Given the description of an element on the screen output the (x, y) to click on. 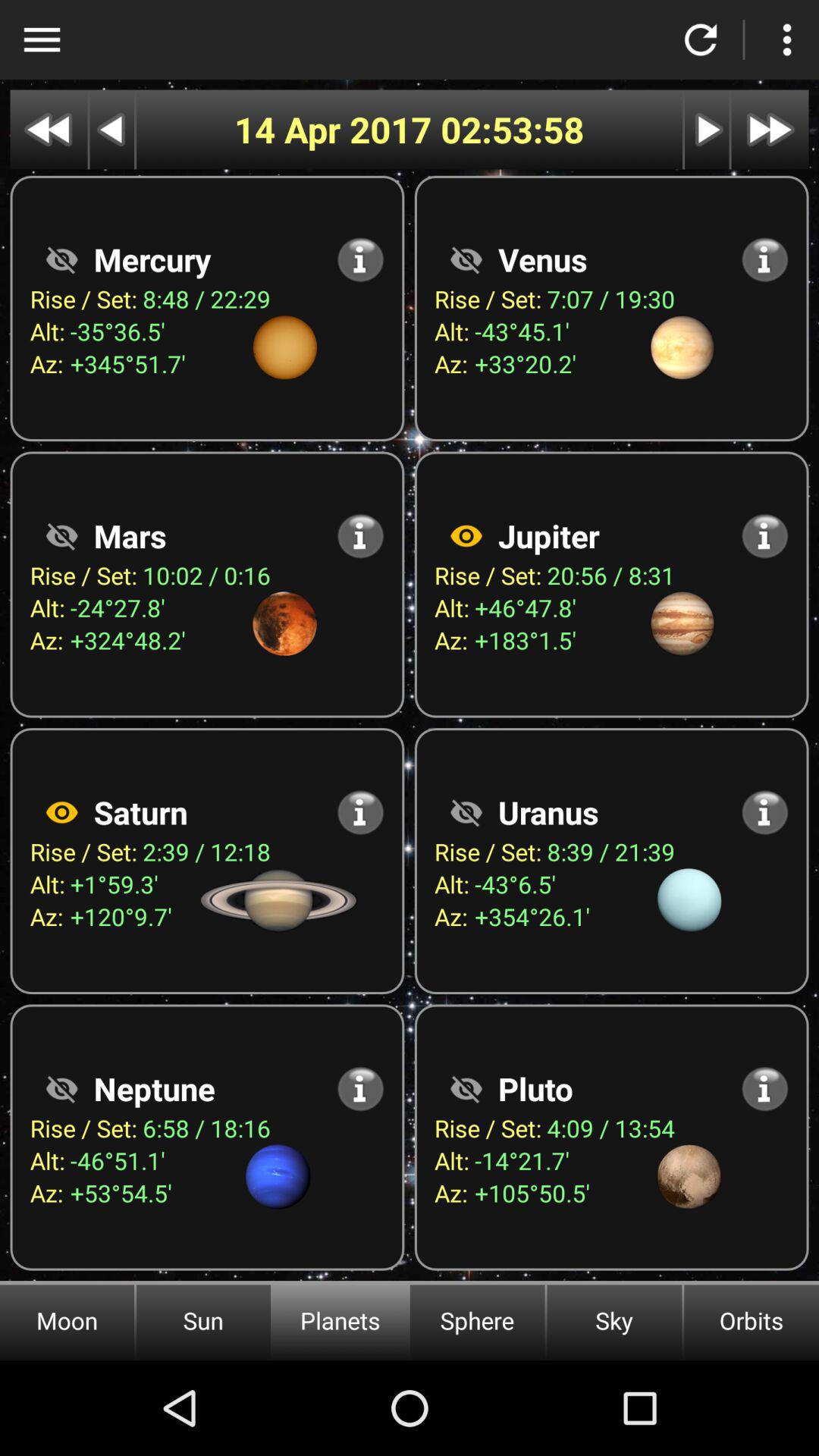
show or hide (466, 812)
